Given the description of an element on the screen output the (x, y) to click on. 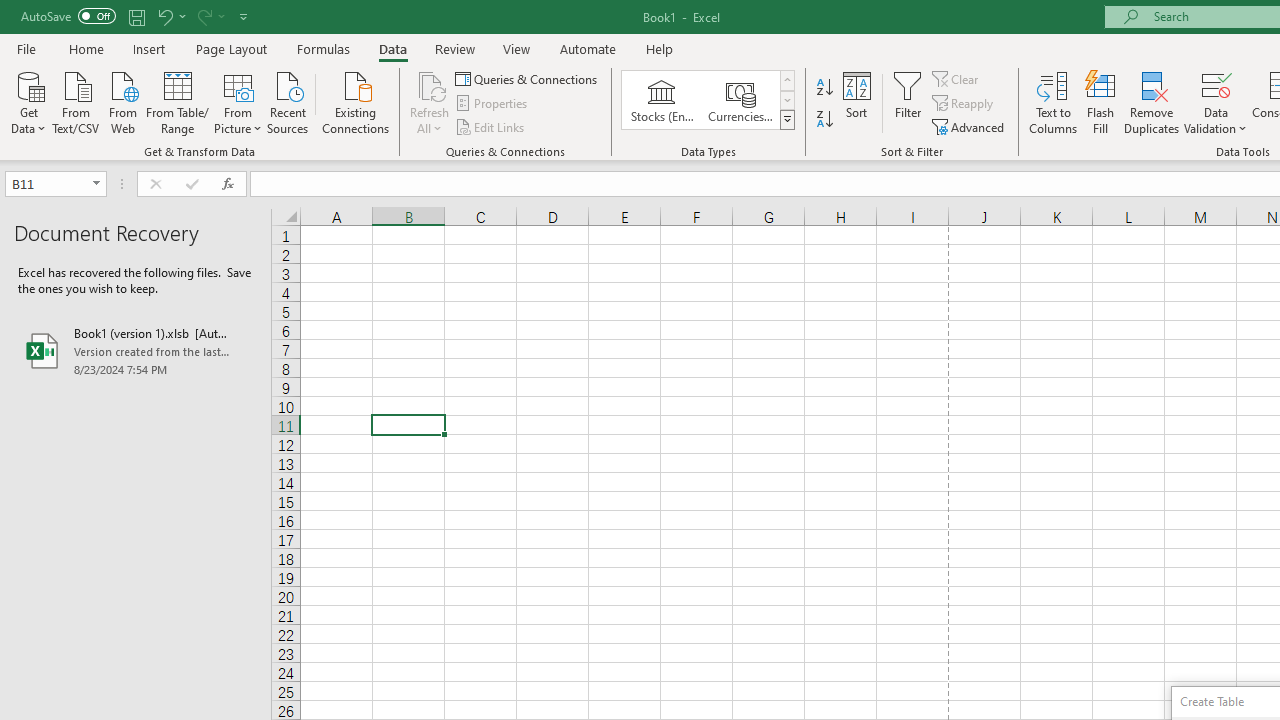
Sort... (856, 102)
AutomationID: ConvertToLinkedEntity (708, 99)
From Web (122, 101)
Properties (492, 103)
